Given the description of an element on the screen output the (x, y) to click on. 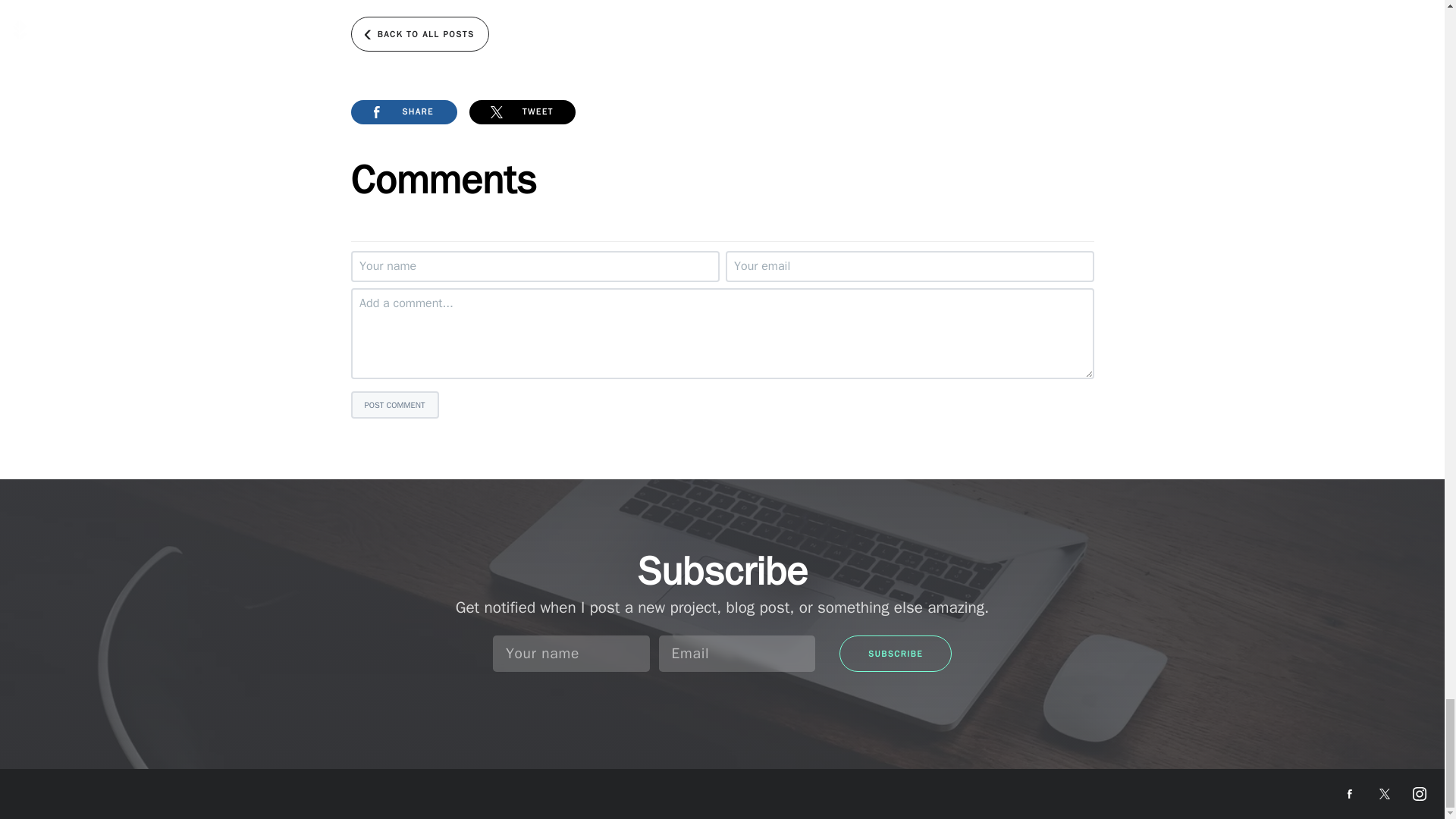
BACK TO ALL POSTS (418, 33)
Seth Burnett (68, 790)
Subscribe (896, 653)
POST COMMENT (394, 405)
Twitter (1384, 793)
SHARE (403, 111)
Subscribe (896, 653)
TWEET (521, 111)
Facebook (1349, 793)
Instagram (1419, 793)
